Given the description of an element on the screen output the (x, y) to click on. 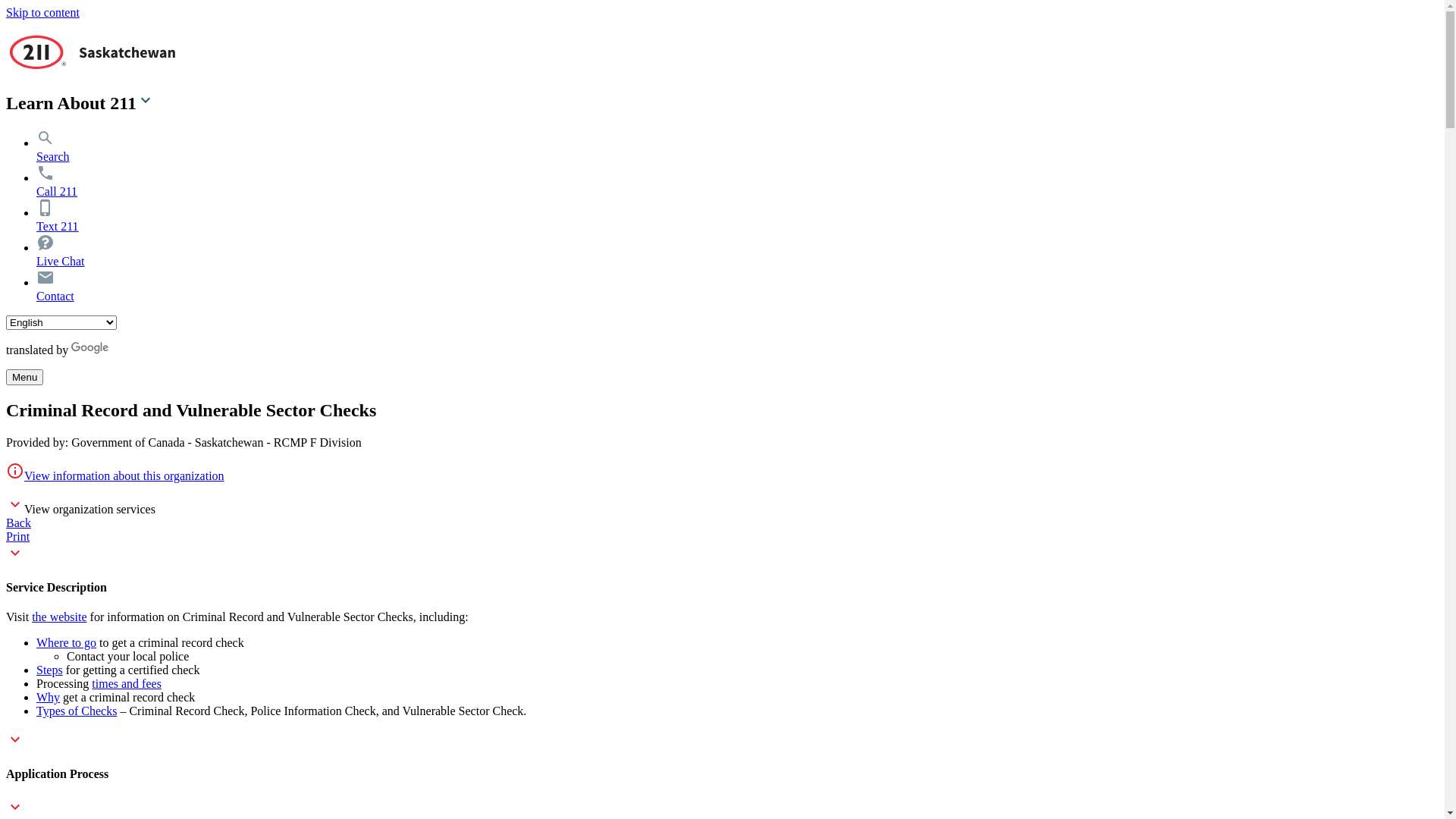
the website Element type: text (58, 616)
Call 211 Element type: text (56, 184)
times and fees Element type: text (126, 683)
Skip to content Element type: text (42, 12)
Menu Element type: text (24, 377)
Why Element type: text (47, 696)
Back Element type: text (18, 522)
Search Element type: text (52, 149)
Steps Element type: text (49, 669)
Where to go Element type: text (66, 642)
Text 211 Element type: text (57, 219)
Types of Checks Element type: text (76, 710)
Live Chat Element type: text (60, 254)
Print Element type: text (17, 536)
Contact Element type: text (55, 289)
View information about this organization Element type: text (124, 475)
